Given the description of an element on the screen output the (x, y) to click on. 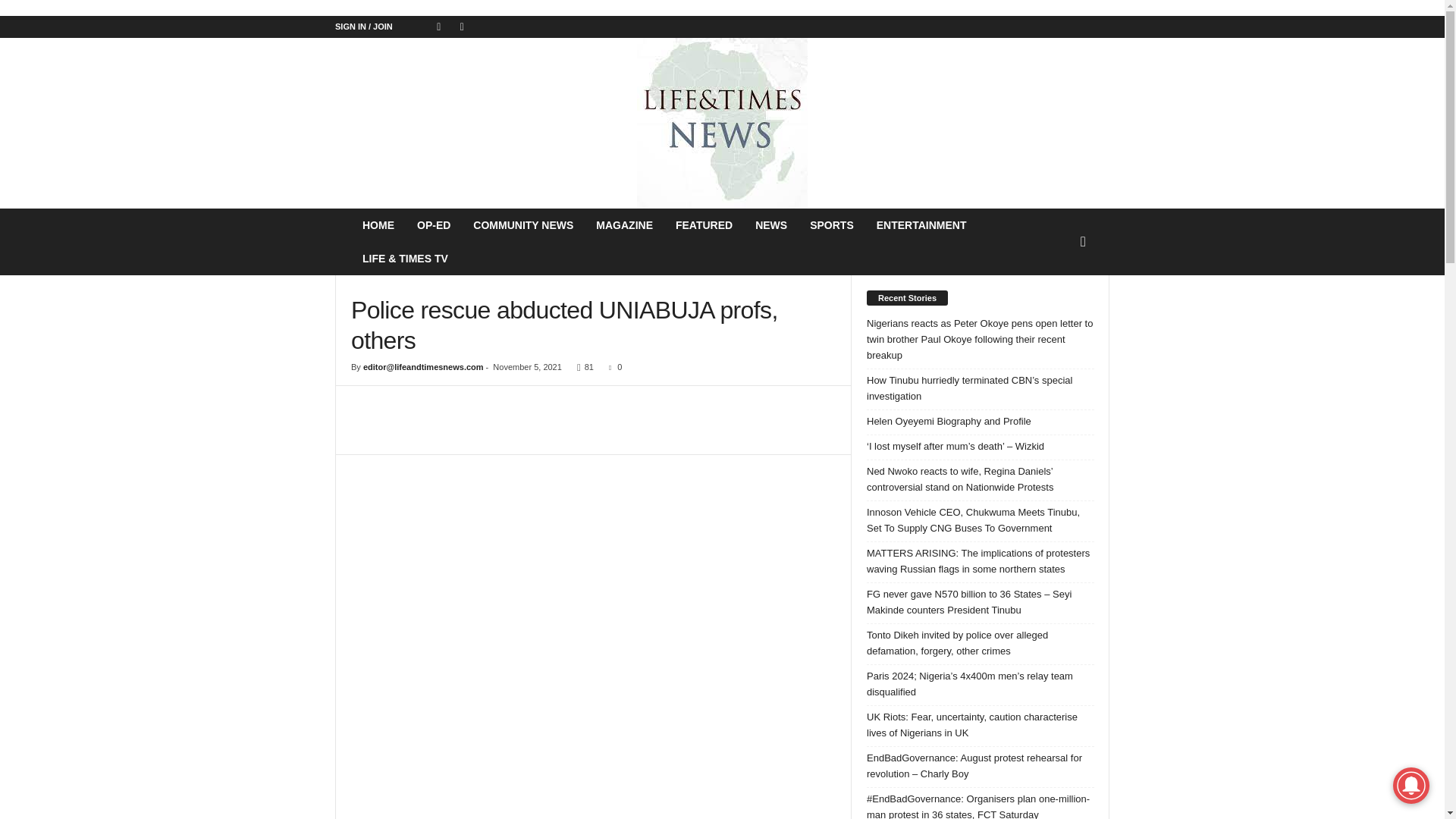
0 (611, 366)
SPORTS (830, 224)
NEWS (770, 224)
HOME (378, 224)
OP-ED (433, 224)
COMMUNITY NEWS (523, 224)
FEATURED (703, 224)
MAGAZINE (624, 224)
ENTERTAINMENT (921, 224)
